Given the description of an element on the screen output the (x, y) to click on. 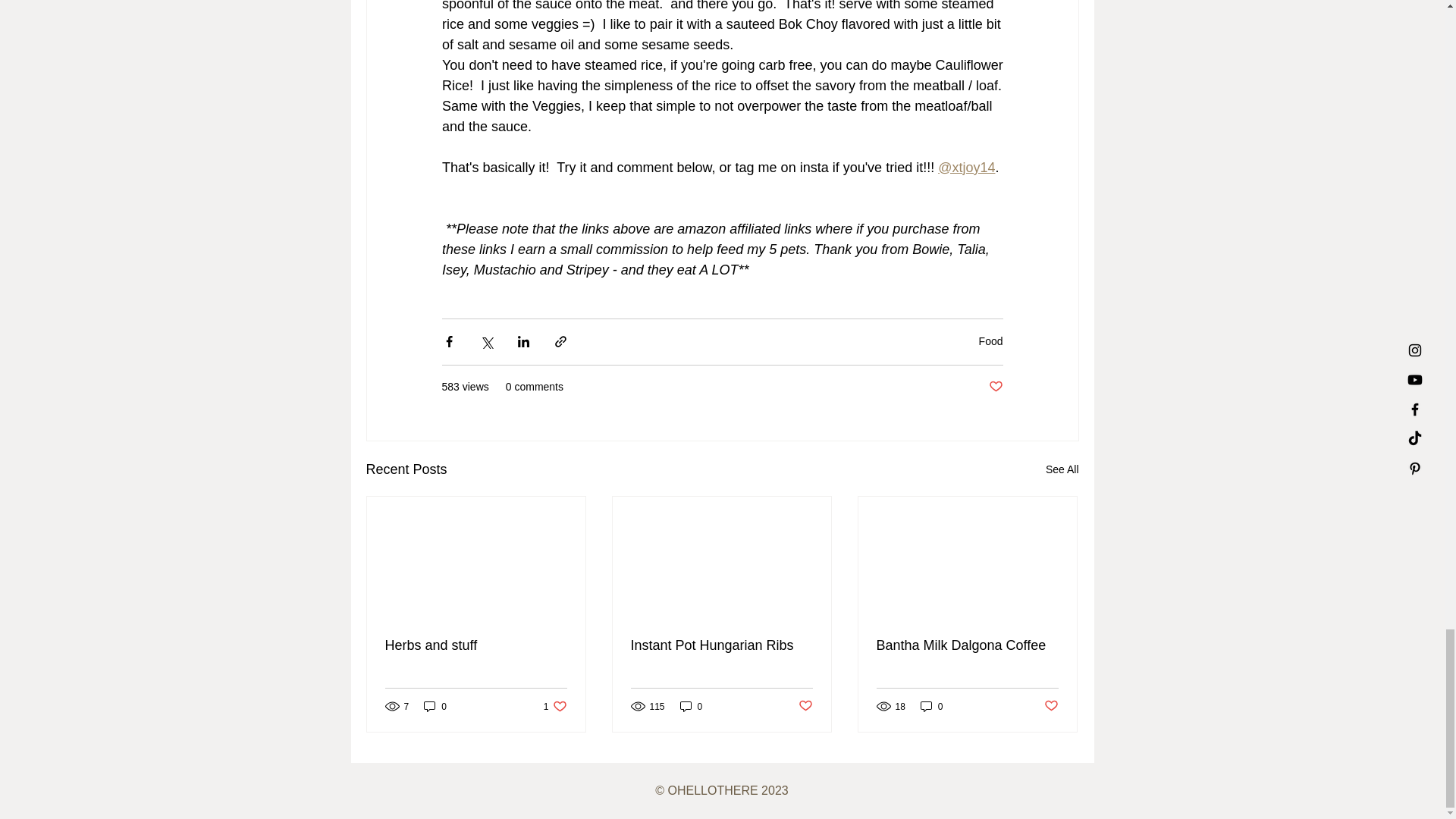
Food (990, 340)
See All (1061, 469)
Herbs and stuff (476, 645)
Post not marked as liked (995, 386)
